Given the description of an element on the screen output the (x, y) to click on. 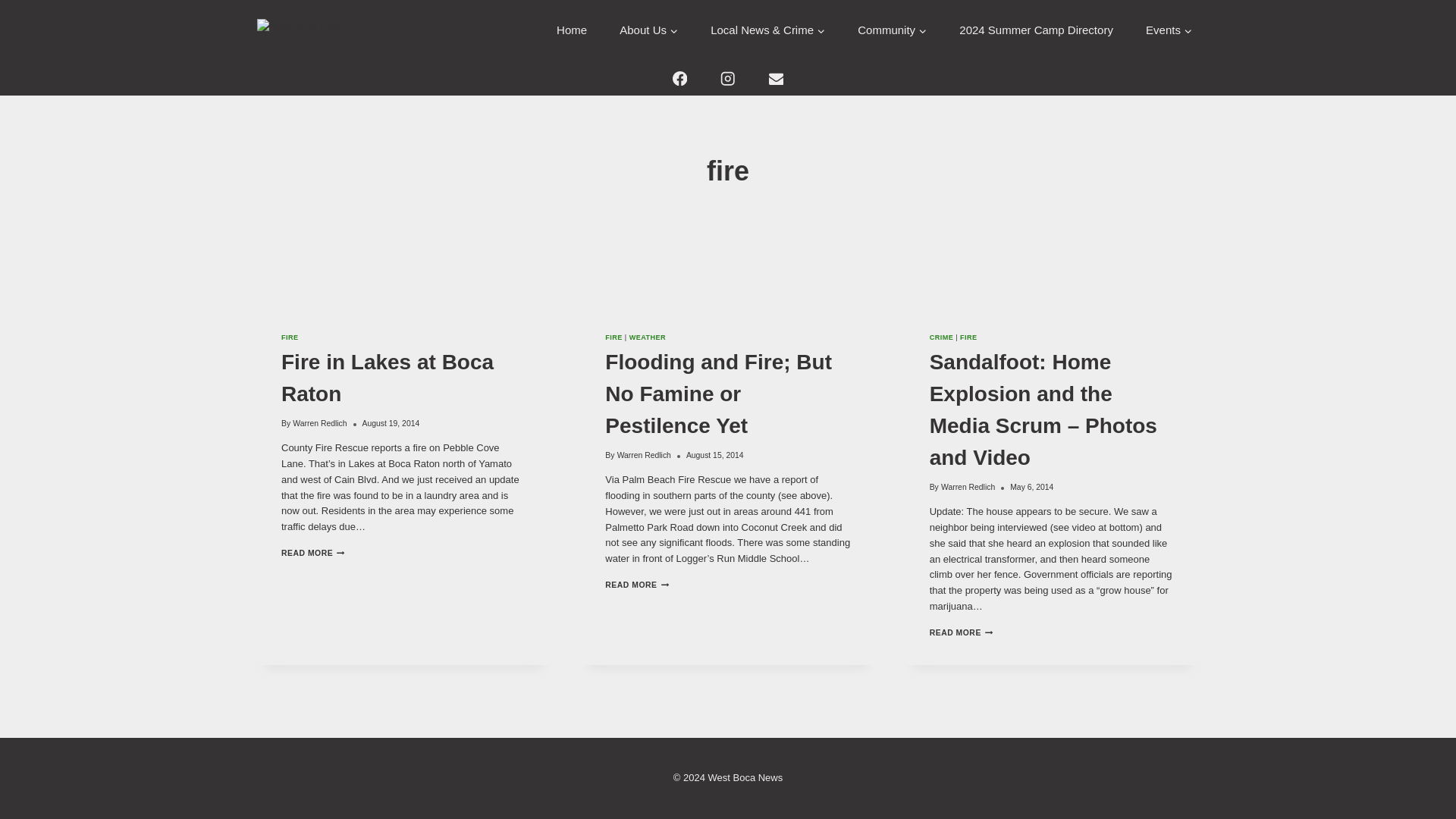
Home (572, 29)
WEATHER (646, 337)
FIRE (289, 337)
2024 Summer Camp Directory (313, 552)
Community (1035, 29)
FIRE (891, 29)
Warren Redlich (614, 337)
Events (319, 423)
About Us (1168, 29)
Fire in Lakes at Boca Raton (648, 29)
